Given the description of an element on the screen output the (x, y) to click on. 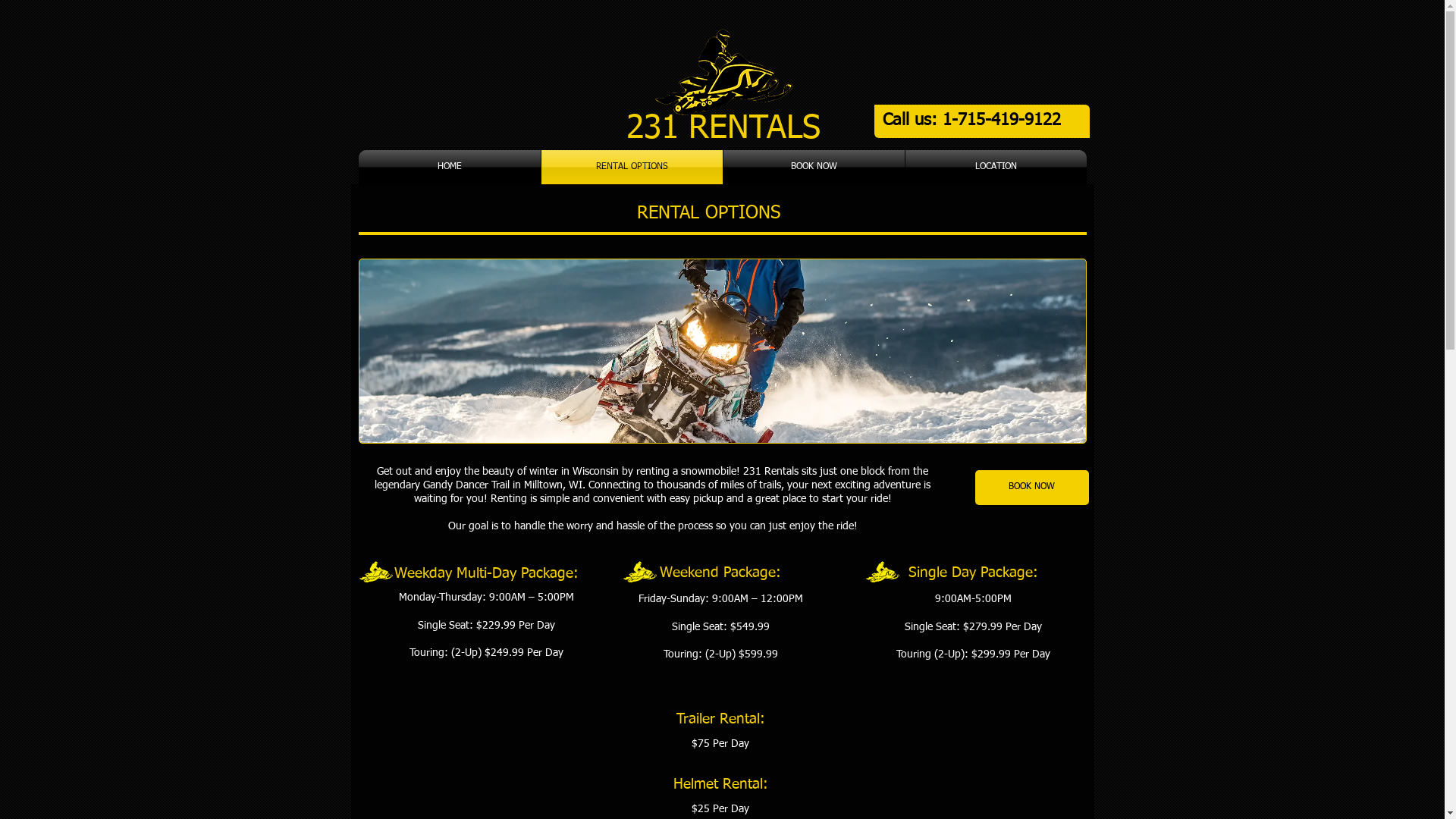
LOCATION Element type: text (995, 167)
RENTAL OPTIONS Element type: text (631, 167)
231 RENTALS Element type: text (723, 128)
HOME Element type: text (448, 167)
BOOK NOW Element type: text (1031, 487)
BOOK NOW Element type: text (813, 167)
